Given the description of an element on the screen output the (x, y) to click on. 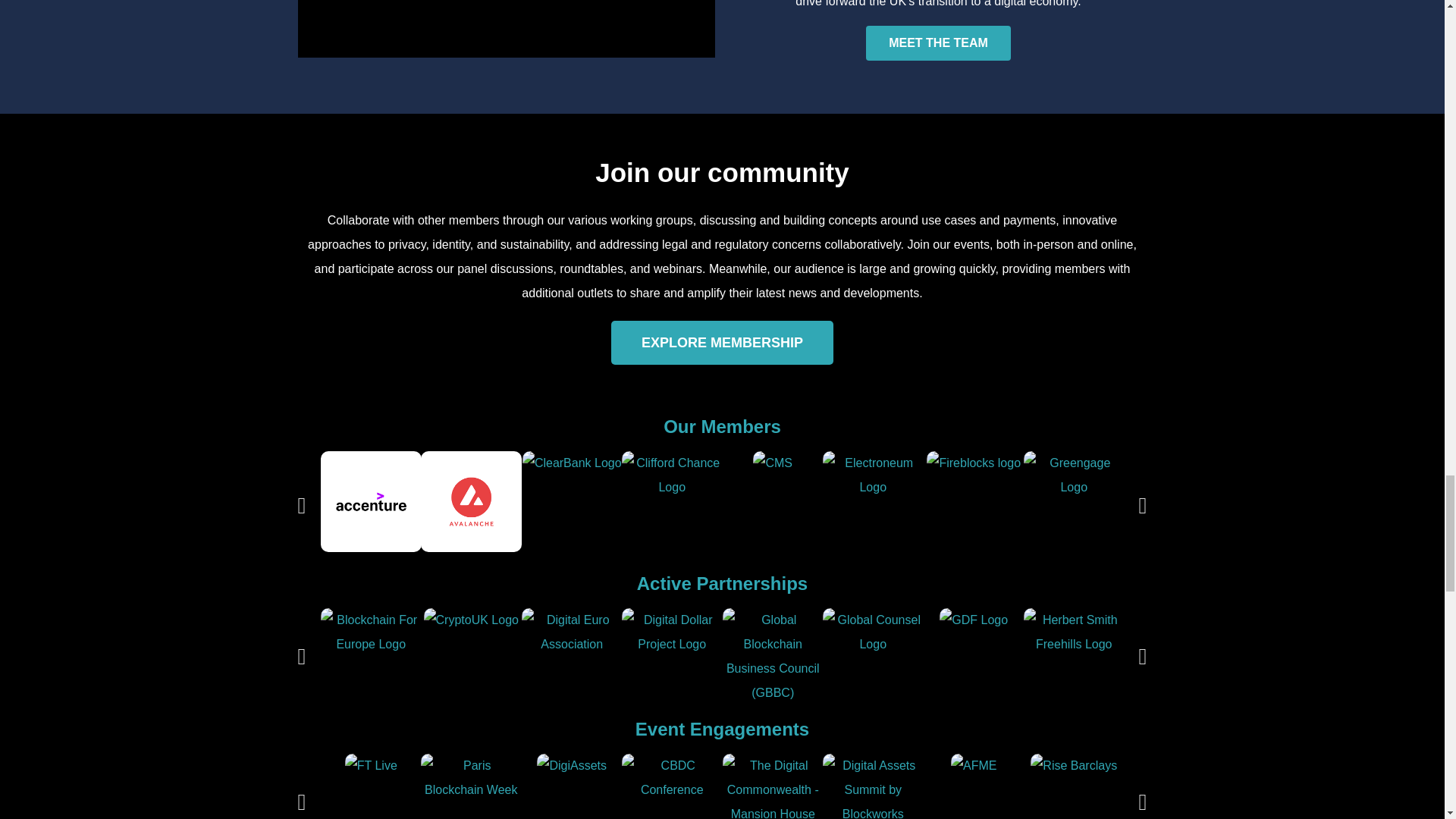
MEET THE TEAM (938, 42)
vimeo Video Player (505, 28)
EXPLORE MEMBERSHIP (721, 342)
